Given the description of an element on the screen output the (x, y) to click on. 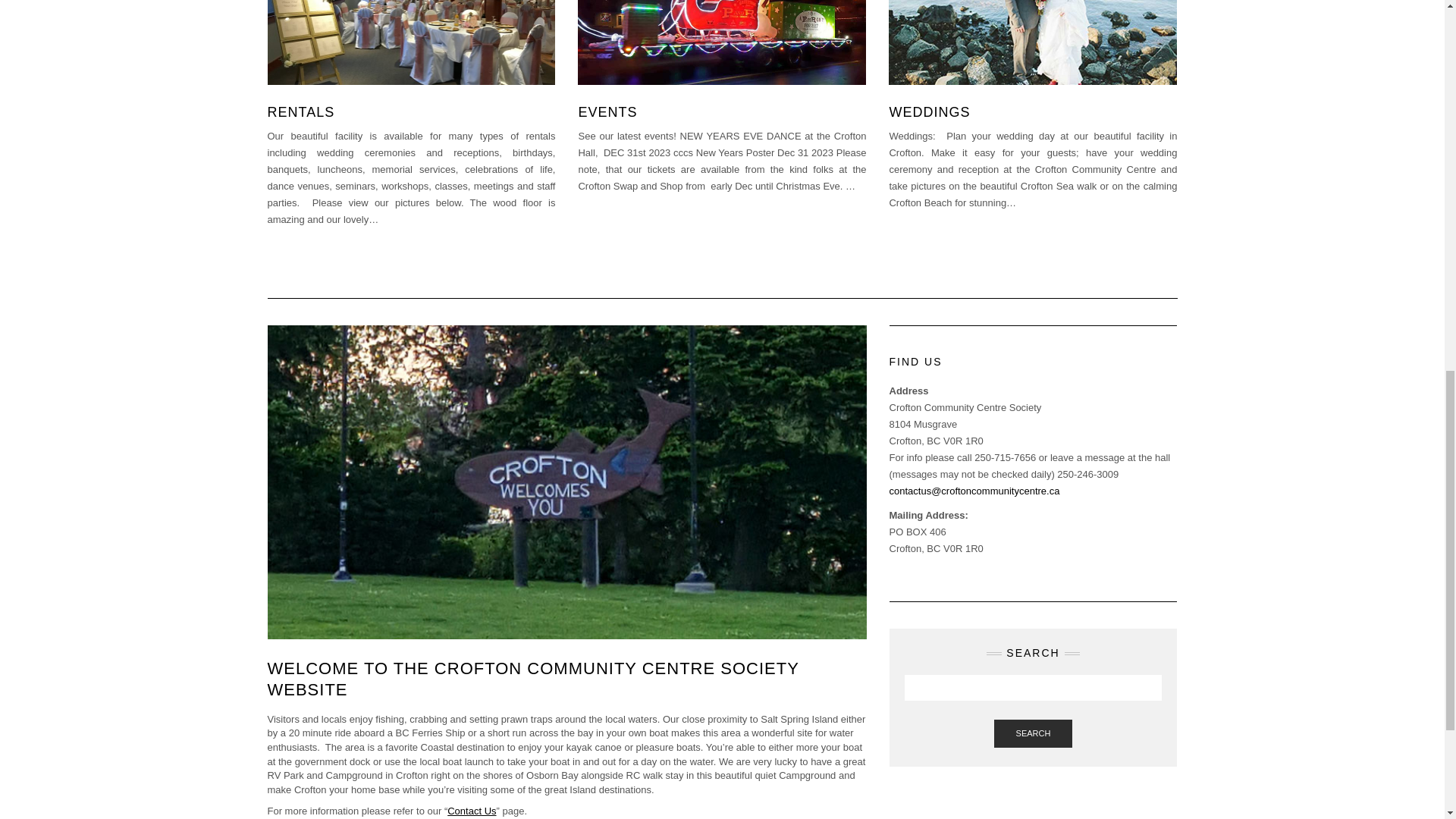
SEARCH (1033, 733)
Weddings (928, 111)
RENTALS (300, 111)
WEDDINGS (928, 111)
Contact Us (471, 810)
Events (607, 111)
Rentals (300, 111)
EVENTS (607, 111)
